Given the description of an element on the screen output the (x, y) to click on. 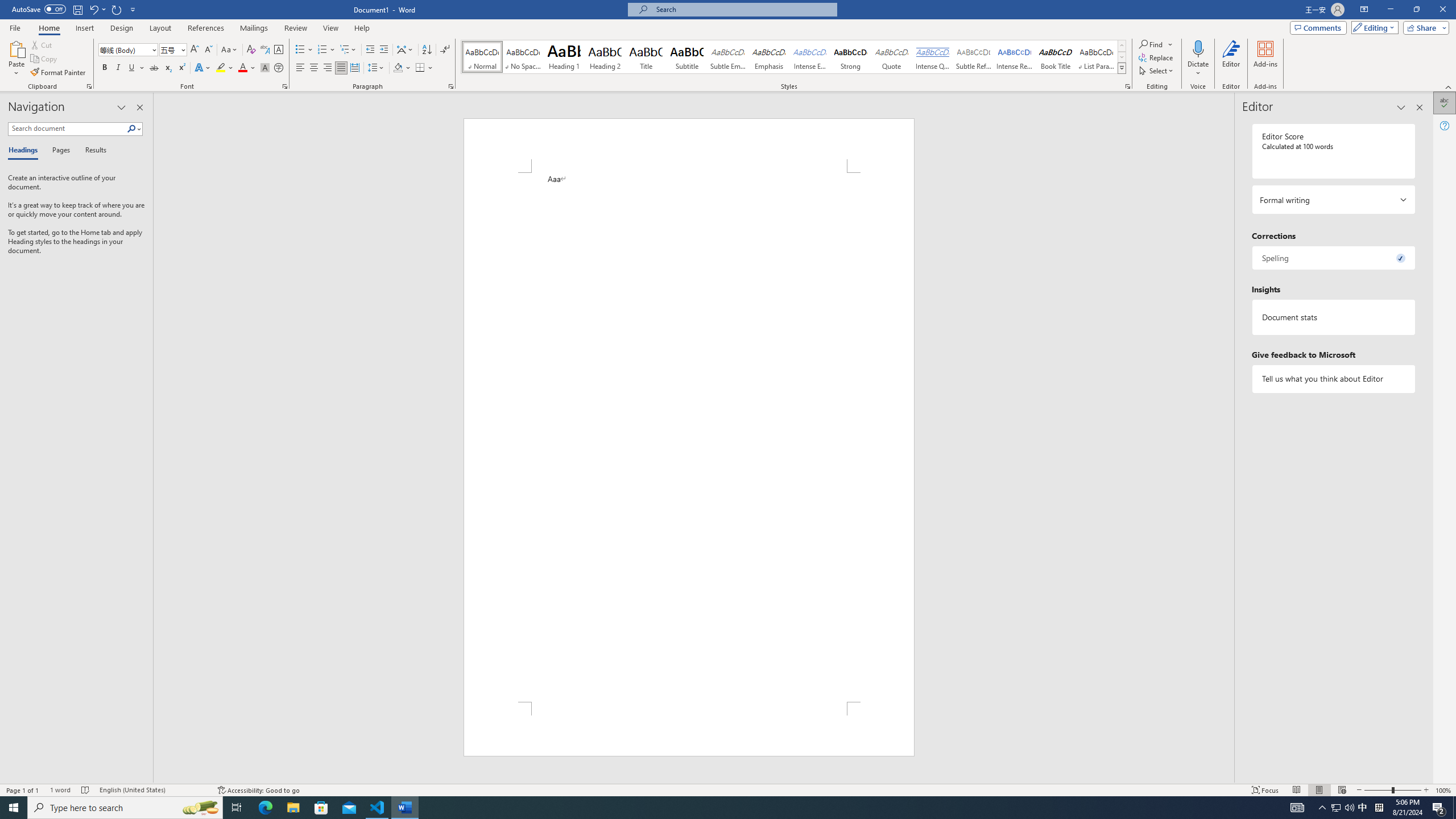
Row Down (1121, 56)
Microsoft search (742, 9)
Zoom (1392, 790)
Class: NetUIScrollBar (1229, 437)
